Given the description of an element on the screen output the (x, y) to click on. 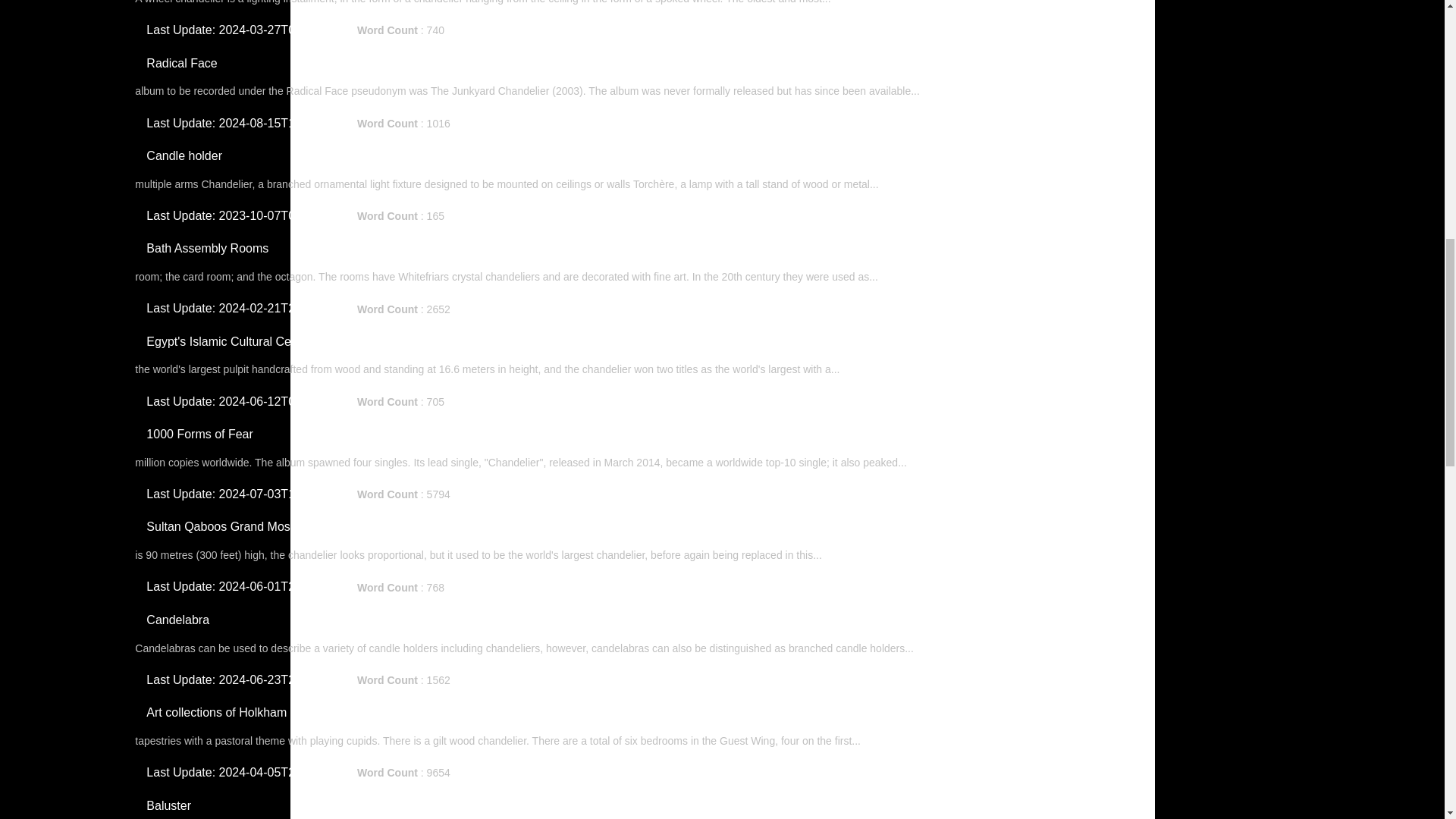
Last Update: 2024-06-01T23:46:10Z (244, 586)
Candle holder (183, 155)
Sultan Qaboos Grand Mosque (228, 526)
Last Update: 2024-08-15T14:05:03Z (244, 122)
Last Update: 2024-07-03T16:57:41Z (244, 493)
Last Update: 2023-10-07T03:50:05Z (244, 215)
Egypt's Islamic Cultural Center (229, 341)
Synonim Bath Assembly Rooms (539, 309)
Synonim Egypt's Islamic Cultural Center (552, 402)
Synonim 1000 Forms of Fear (533, 494)
